Given the description of an element on the screen output the (x, y) to click on. 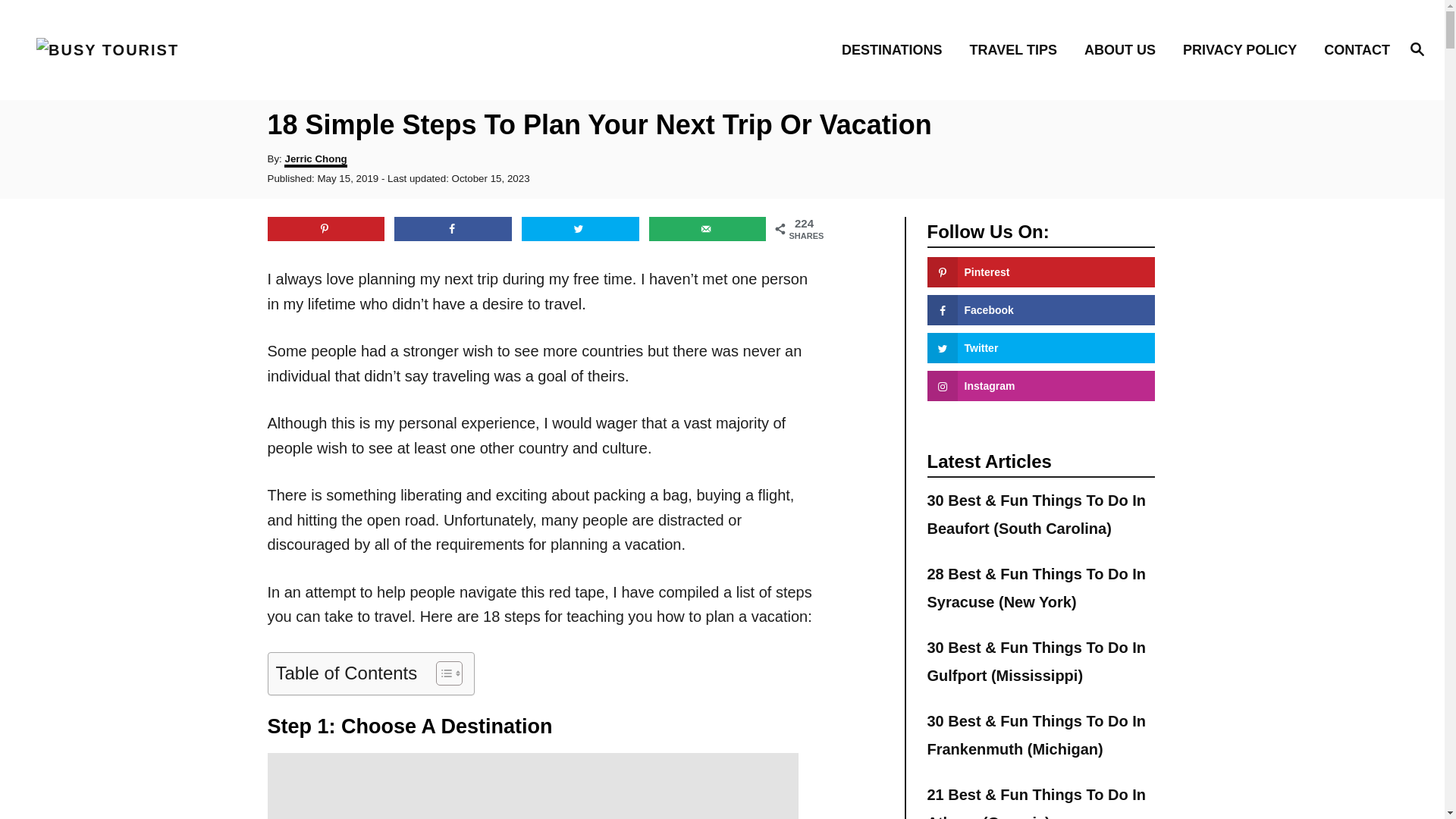
ABOUT US (1124, 49)
Save to Pinterest (325, 228)
TRAVEL TIPS (1017, 49)
Send over email (708, 228)
Busy Tourist (204, 50)
DESTINATIONS (896, 49)
Magnifying Glass (1416, 48)
CONTACT (1352, 49)
Share on Facebook (453, 228)
Share on Twitter (580, 228)
